Given the description of an element on the screen output the (x, y) to click on. 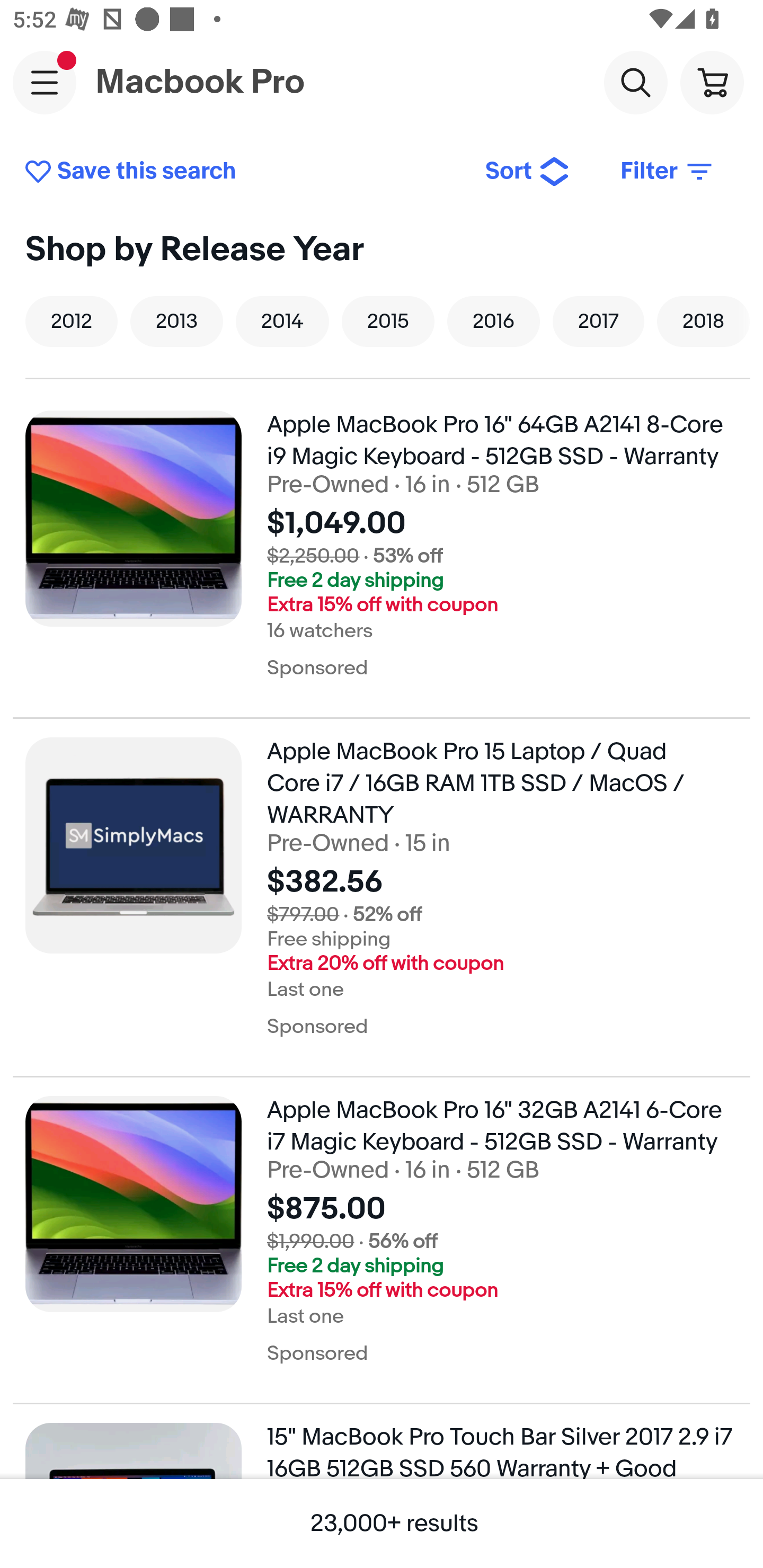
Main navigation, notification is pending, open (44, 82)
Search (635, 81)
Cart button shopping cart (711, 81)
Save this search (241, 171)
Sort (527, 171)
Filter (667, 171)
2012 2012, Release Year (71, 321)
2013 2013, Release Year (176, 321)
2014 2014, Release Year (281, 321)
2015 2015, Release Year (387, 321)
2016 2016, Release Year (493, 321)
2017 2017, Release Year (597, 321)
2018 2018, Release Year (703, 321)
